Given the description of an element on the screen output the (x, y) to click on. 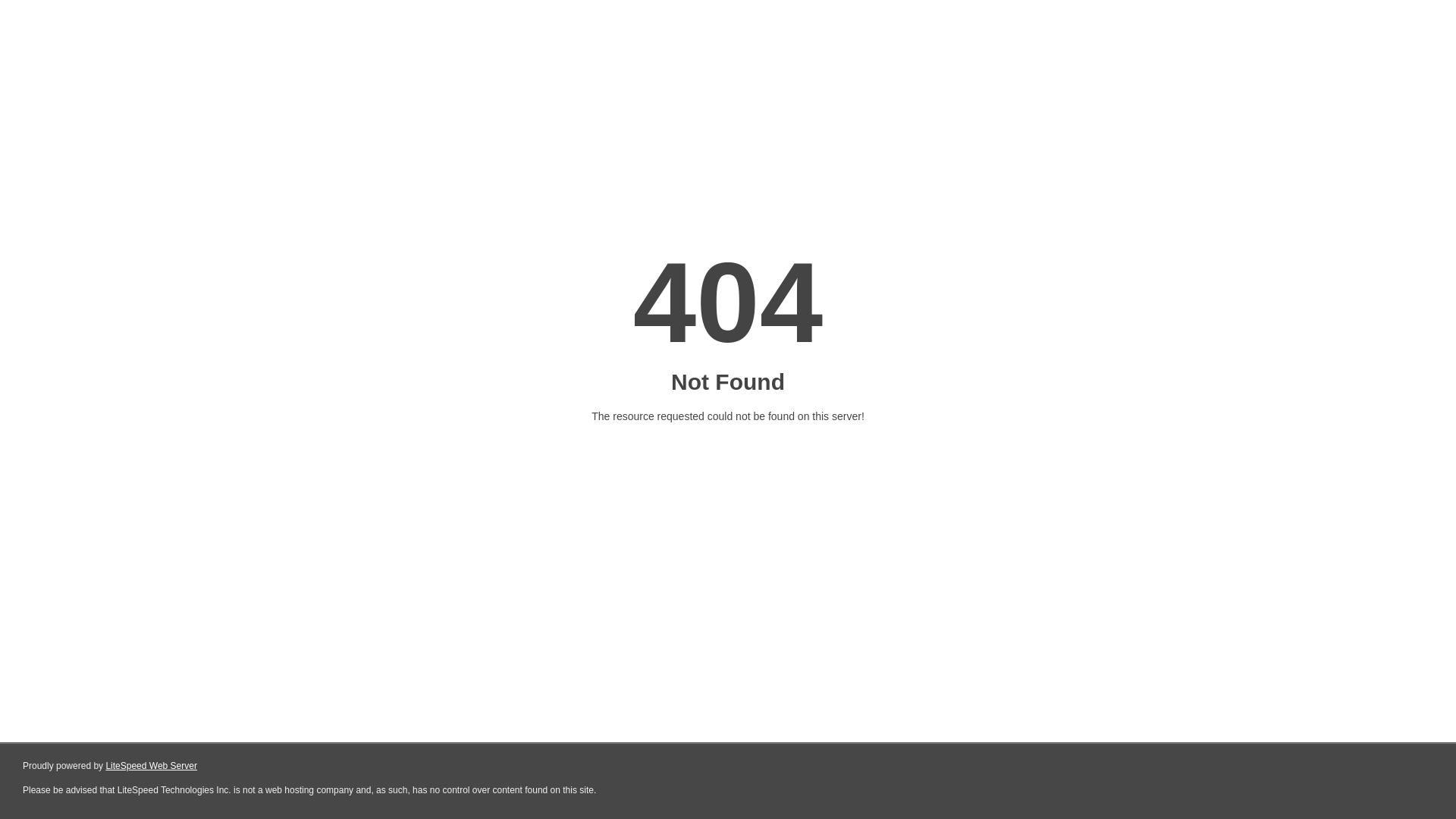
LiteSpeed Web Server Element type: text (151, 765)
